Given the description of an element on the screen output the (x, y) to click on. 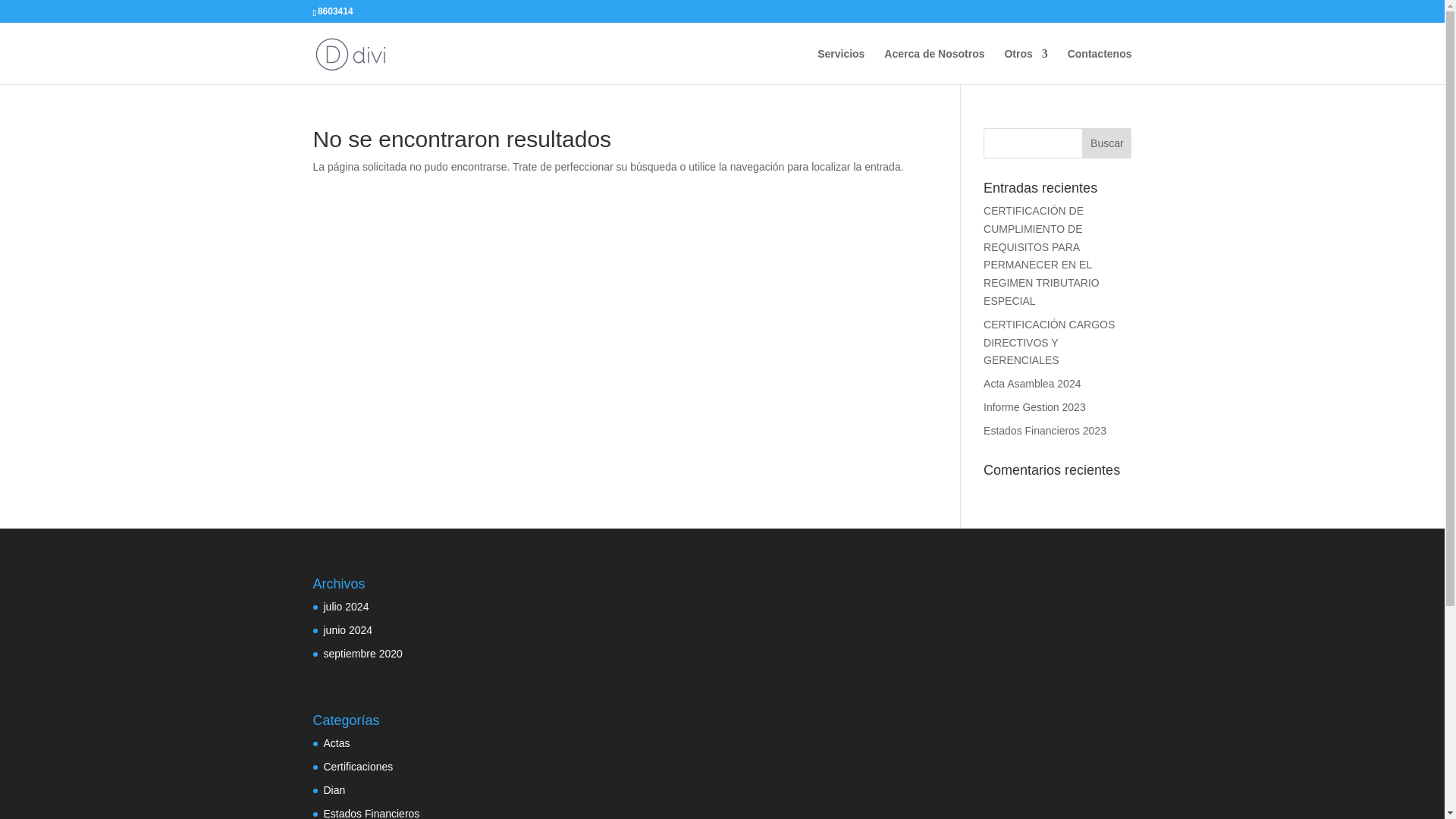
Buscar (1106, 142)
Otros (1025, 66)
Contactenos (1099, 66)
Servicios (840, 66)
Acerca de Nosotros (933, 66)
